Given the description of an element on the screen output the (x, y) to click on. 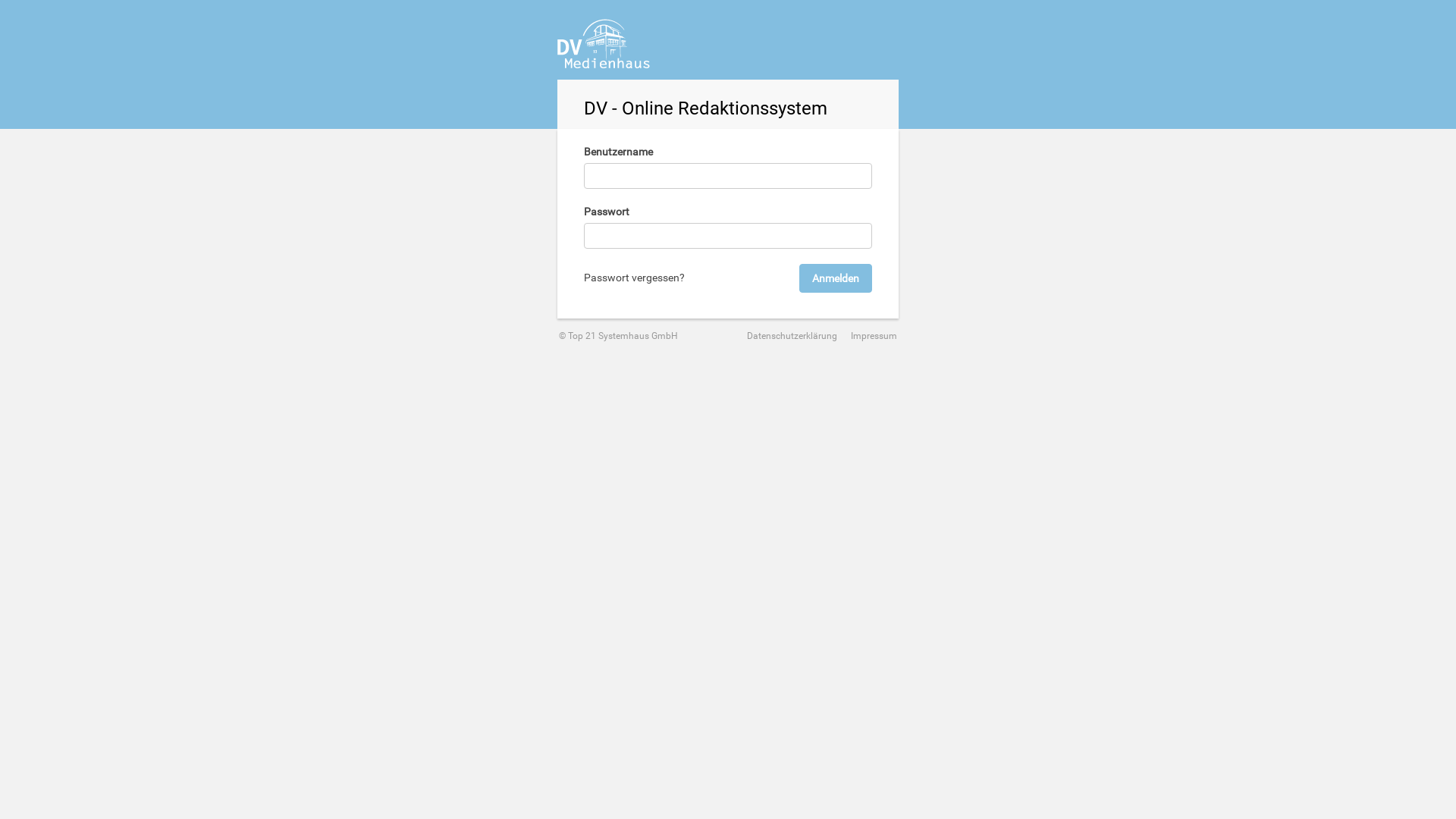
Impressum Element type: text (868, 335)
Anmelden Element type: text (835, 277)
Passwort vergessen? Element type: text (633, 277)
